Given the description of an element on the screen output the (x, y) to click on. 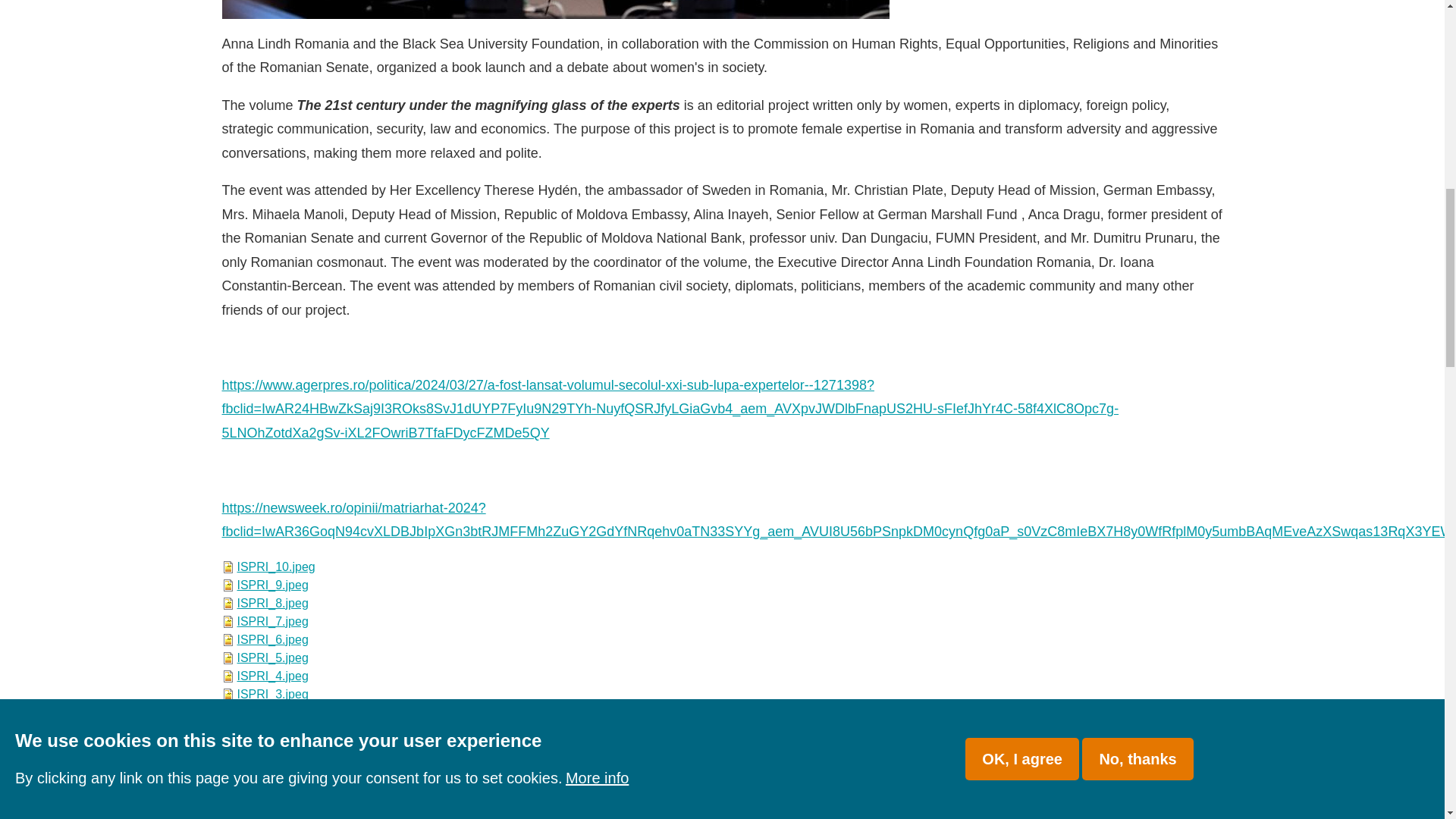
Book launch (669, 408)
Book launch (838, 519)
